Given the description of an element on the screen output the (x, y) to click on. 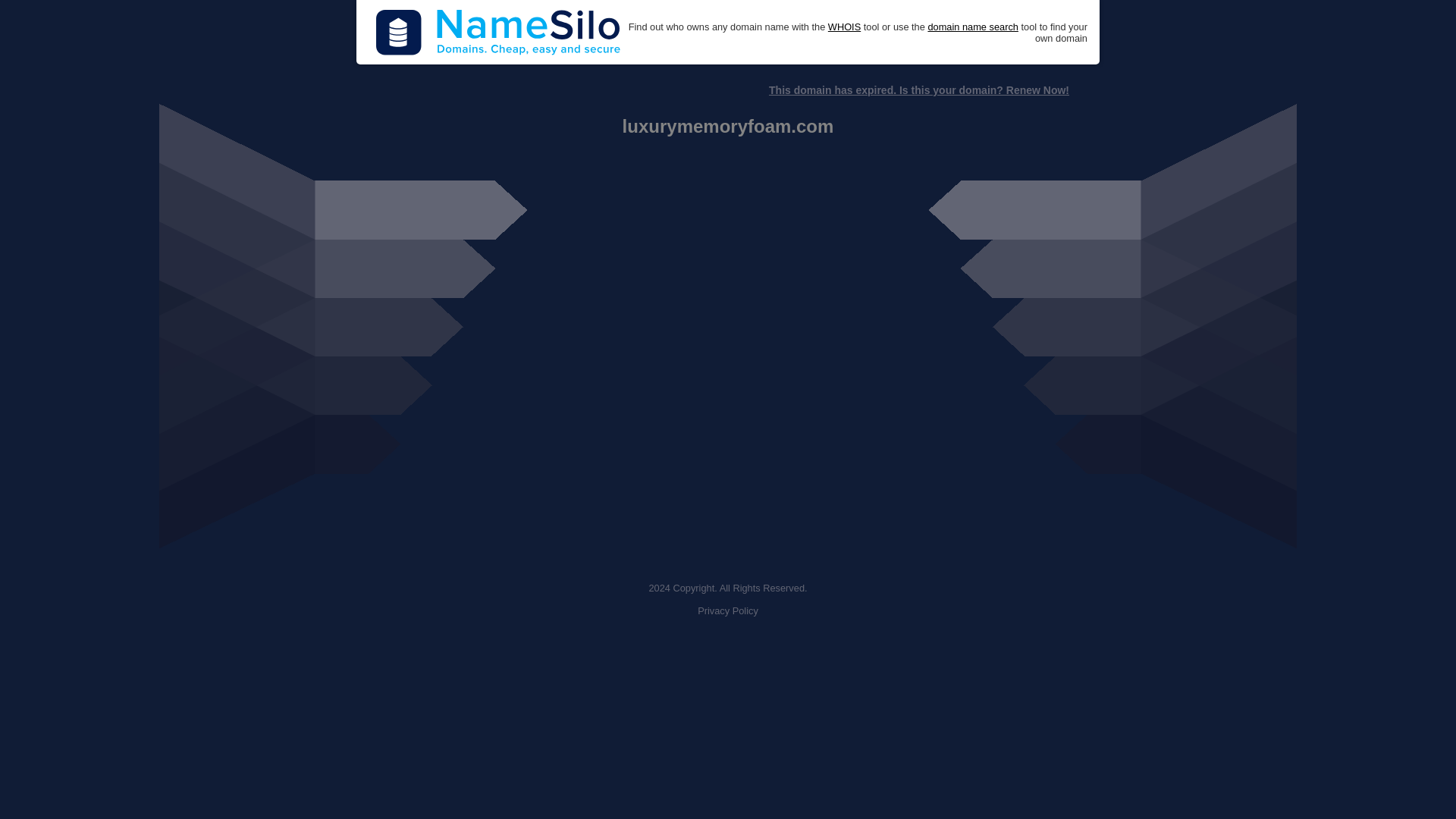
This domain has expired. Is this your domain? Renew Now! (918, 90)
Privacy Policy (727, 610)
domain name search (972, 26)
WHOIS (844, 26)
